Given the description of an element on the screen output the (x, y) to click on. 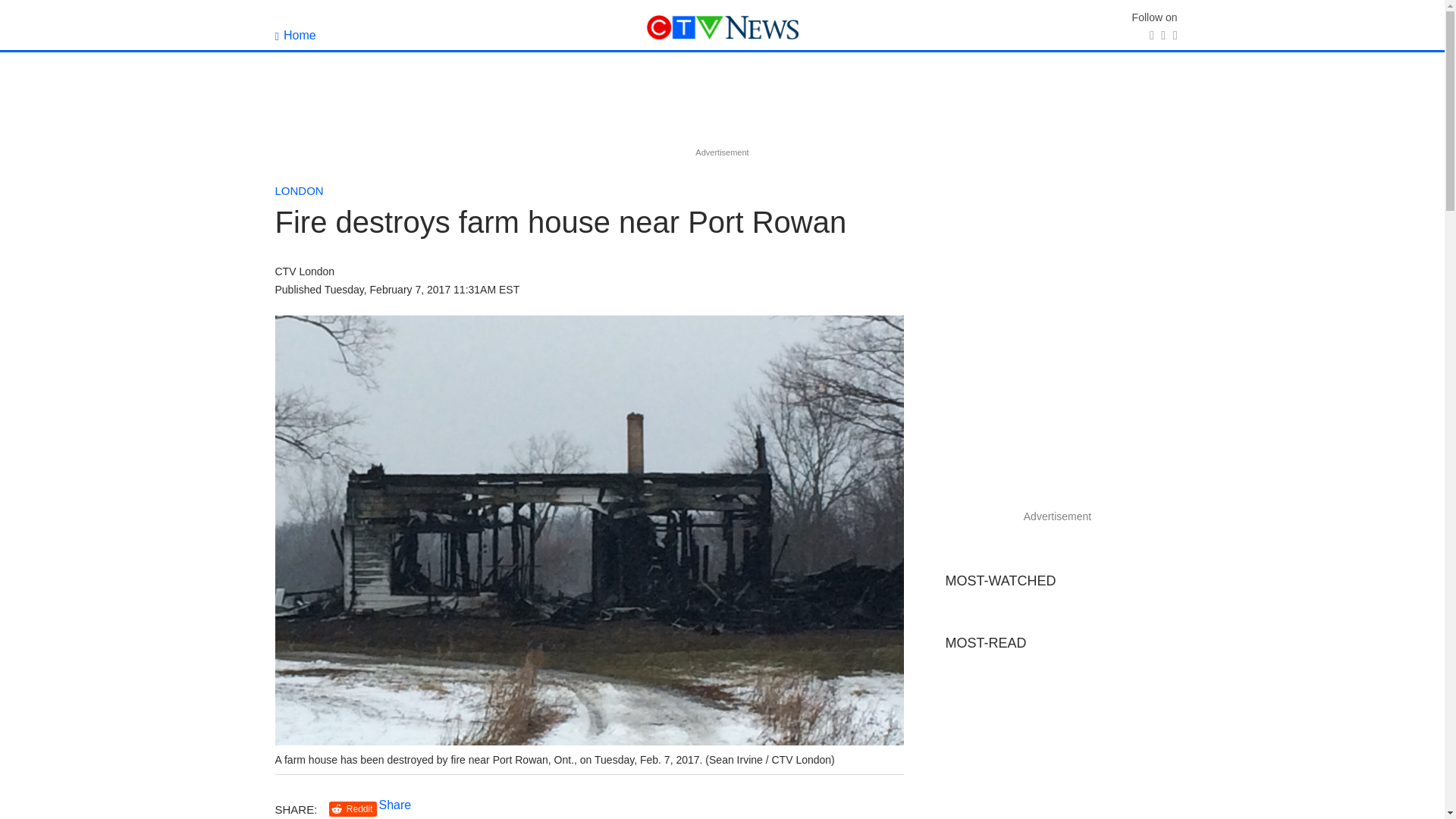
LONDON (299, 190)
3rd party ad content (721, 109)
Reddit (353, 809)
Home (295, 34)
Share (395, 804)
